Given the description of an element on the screen output the (x, y) to click on. 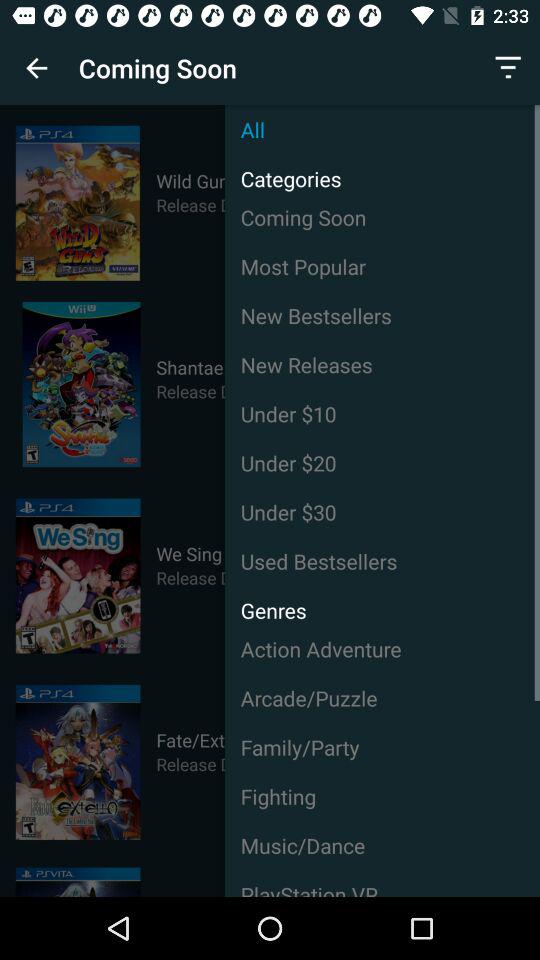
launch the icon above fighting icon (382, 747)
